Given the description of an element on the screen output the (x, y) to click on. 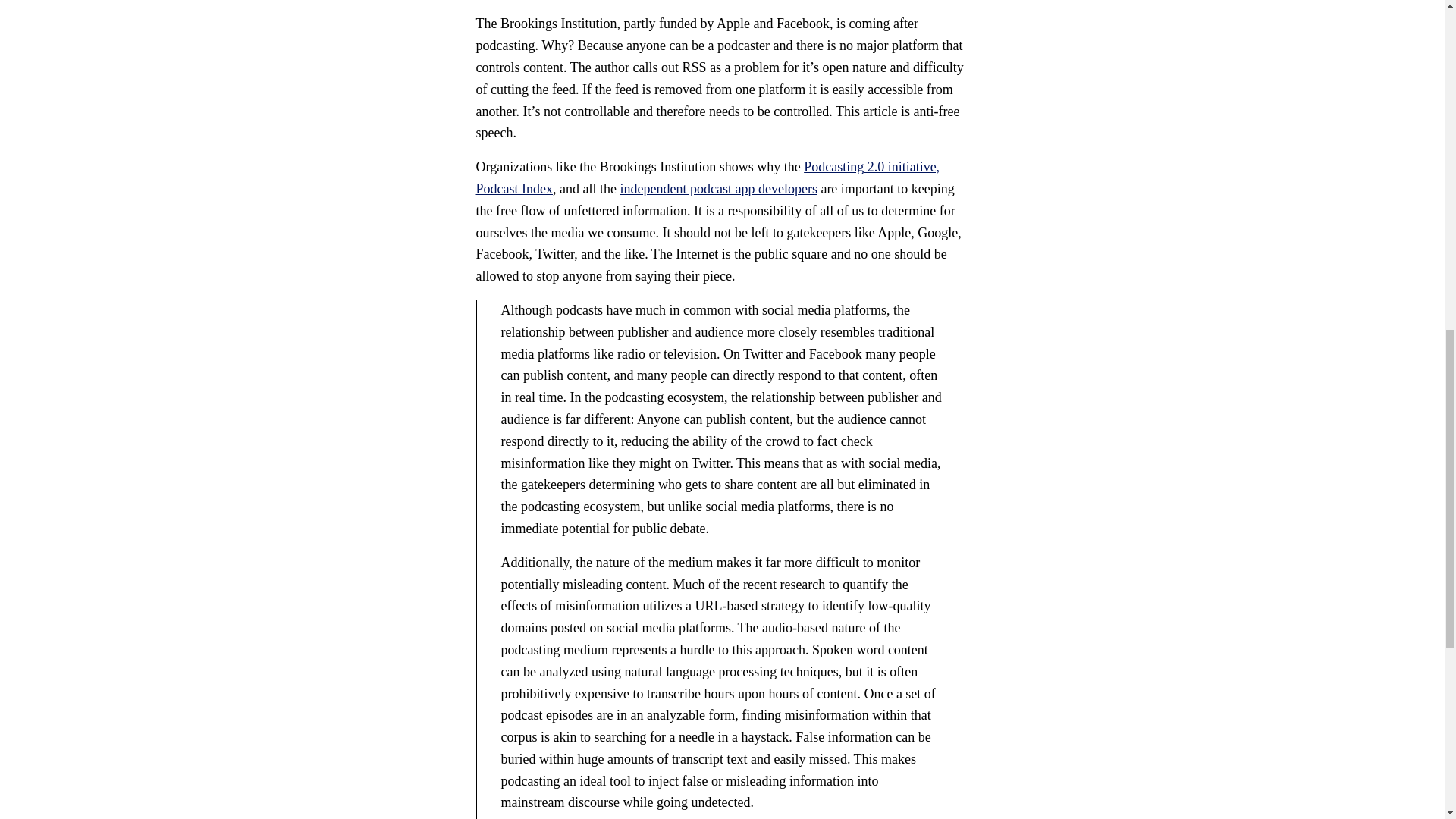
independent podcast app developers (718, 188)
Podcasting 2.0 initiative, Podcast Index (708, 177)
